Given the description of an element on the screen output the (x, y) to click on. 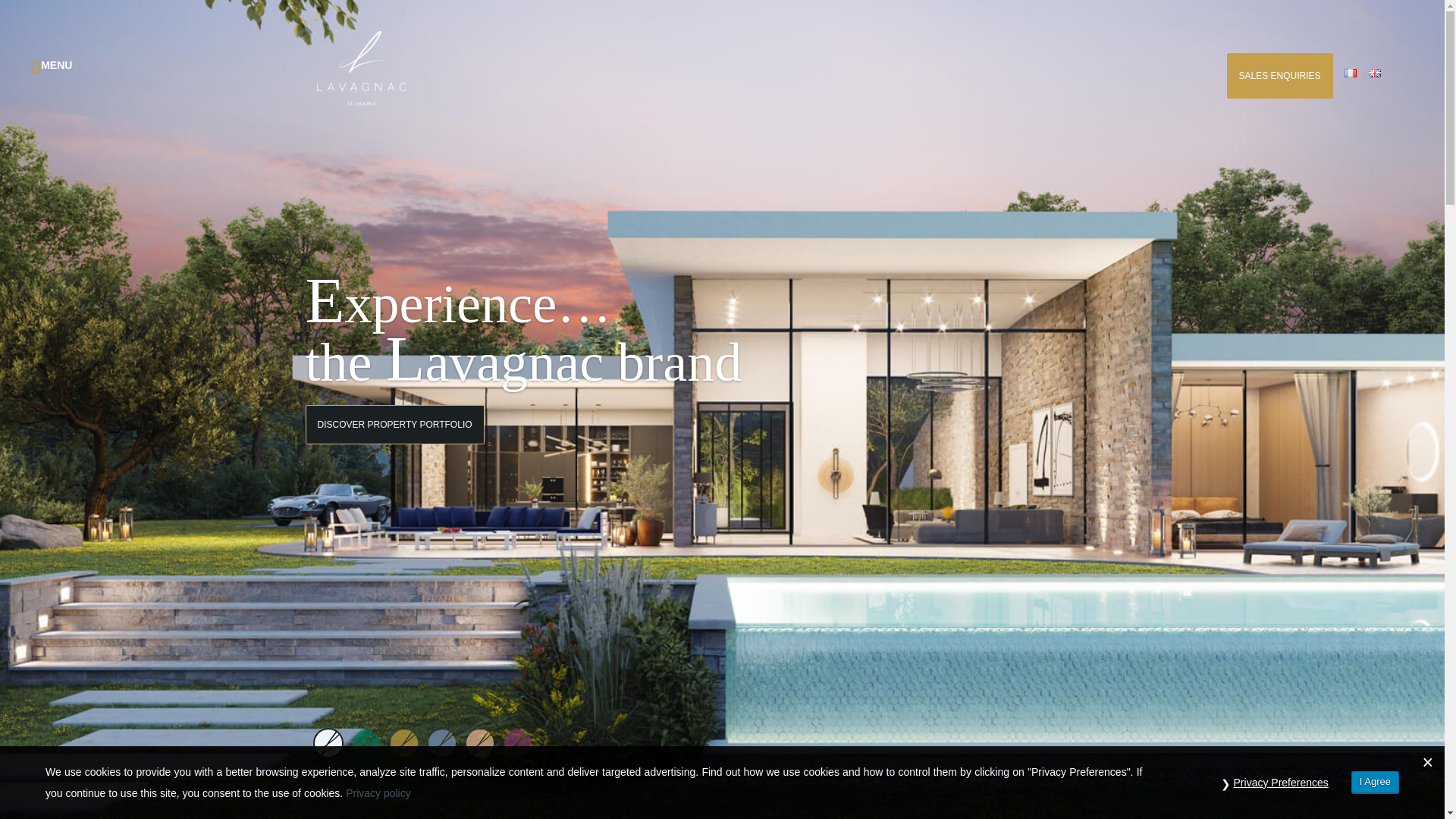
SALES ENQUIRIES (1280, 75)
English (1374, 72)
DISCOVER PROPERTY PORTFOLIO (393, 504)
